Given the description of an element on the screen output the (x, y) to click on. 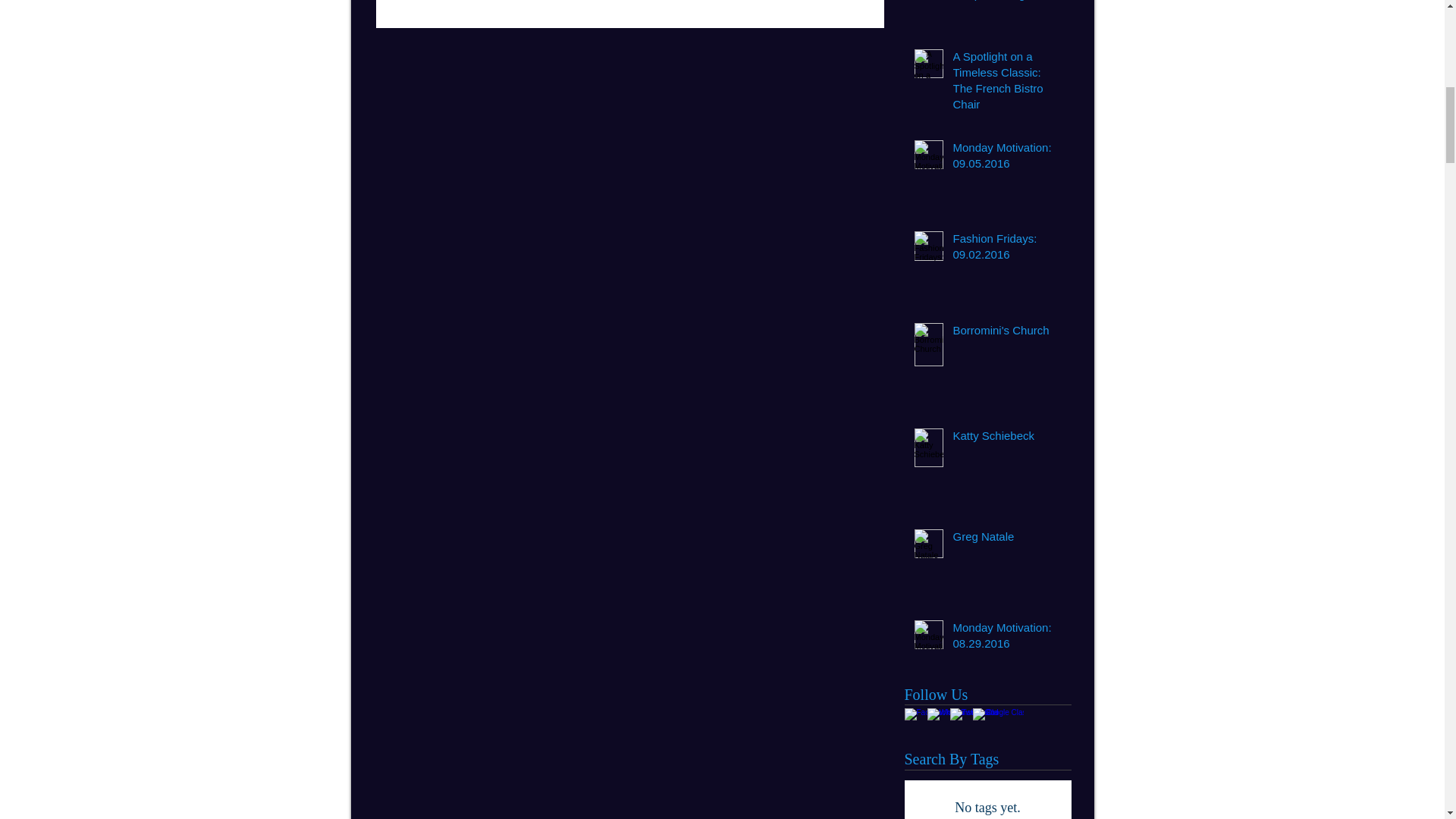
Fashion Fridays: 09.02.2016 (1006, 249)
Monday Motivation: 08.29.2016 (1006, 638)
Katty Schiebeck (1006, 438)
Monday Motivation: 09.05.2016 (1006, 158)
Art I Saw and Liked: Mesple 'Killing Time' (1006, 4)
Borromini's Church (1006, 332)
Greg Natale (1006, 539)
A Spotlight on a Timeless Classic: The French Bistro Chair (1006, 82)
